Given the description of an element on the screen output the (x, y) to click on. 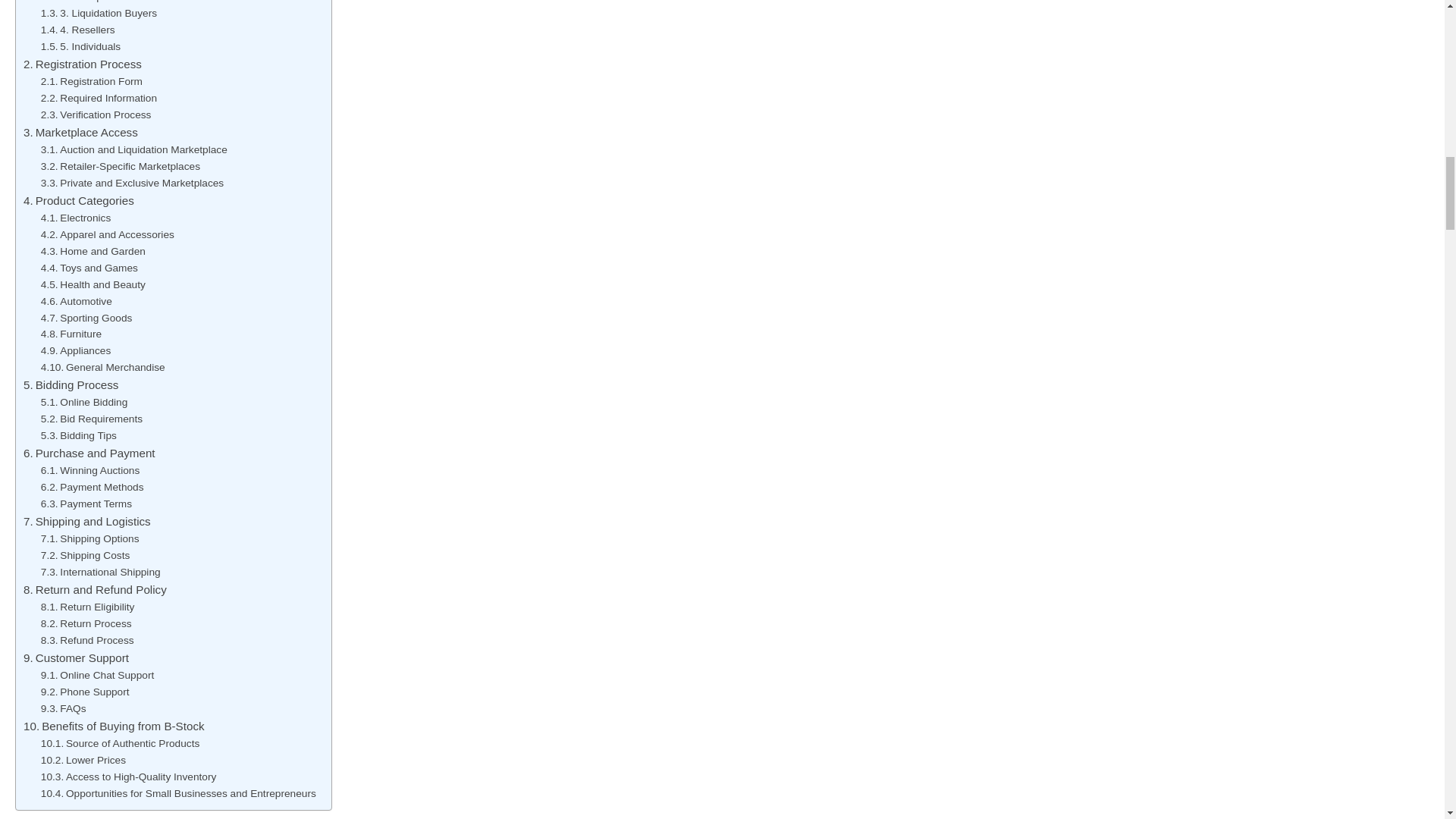
Verification Process (95, 115)
Auction and Liquidation Marketplace (133, 149)
Registration Process (82, 64)
Required Information (98, 98)
3. Liquidation Buyers (98, 13)
Private and Exclusive Marketplaces (132, 183)
Marketplace Access (80, 132)
Retailer-Specific Marketplaces (120, 166)
2. Entrepreneurs (88, 2)
5. Individuals (80, 46)
Registration Form (91, 81)
4. Resellers (77, 30)
